Given the description of an element on the screen output the (x, y) to click on. 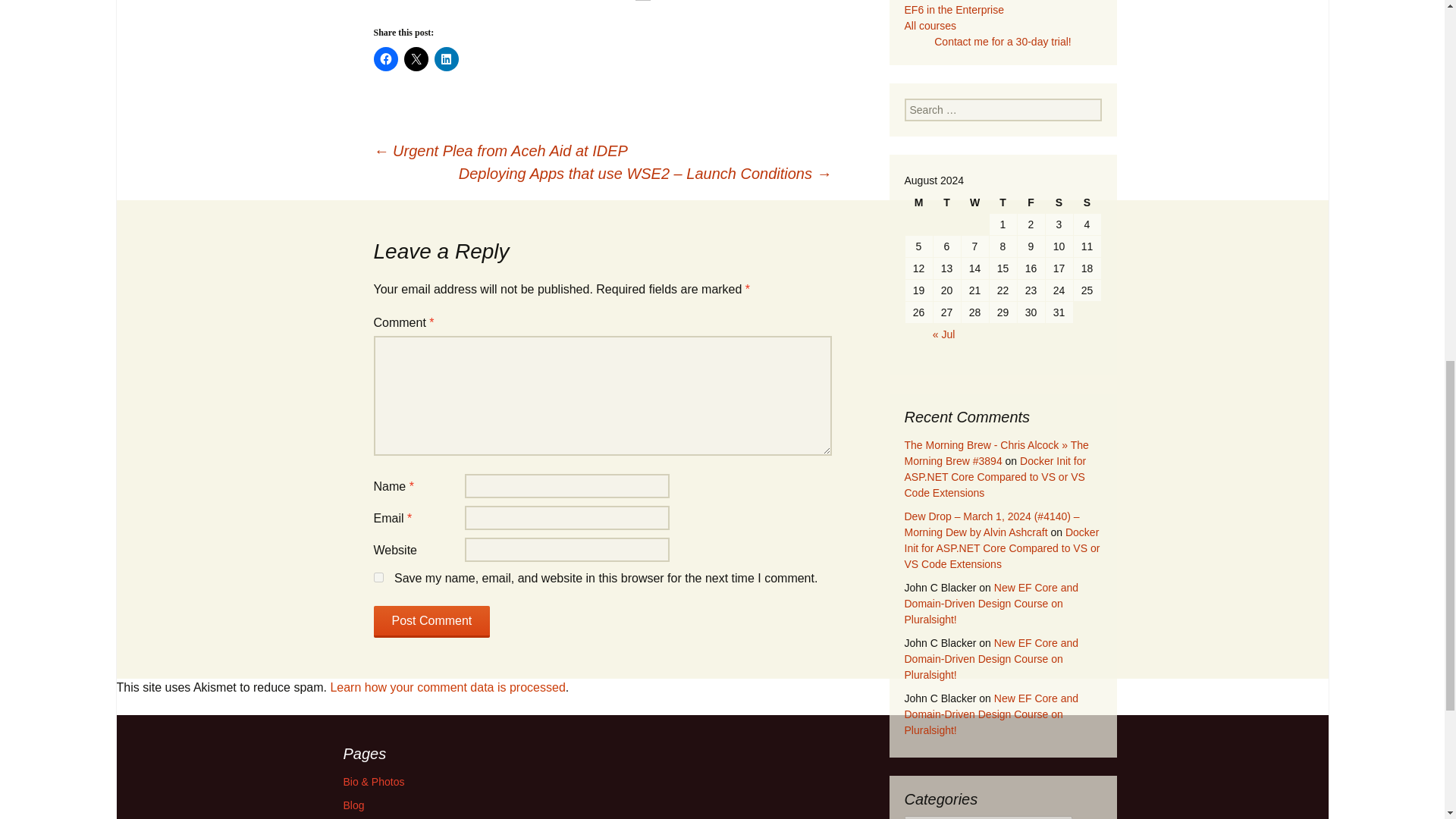
Thursday (1002, 201)
Click to share on X (415, 58)
yes (377, 577)
Click to share on LinkedIn (445, 58)
Wednesday (974, 201)
Sunday (1087, 201)
Friday (1031, 201)
Post Comment (430, 622)
Saturday (1058, 201)
Post Comment (430, 622)
